Given the description of an element on the screen output the (x, y) to click on. 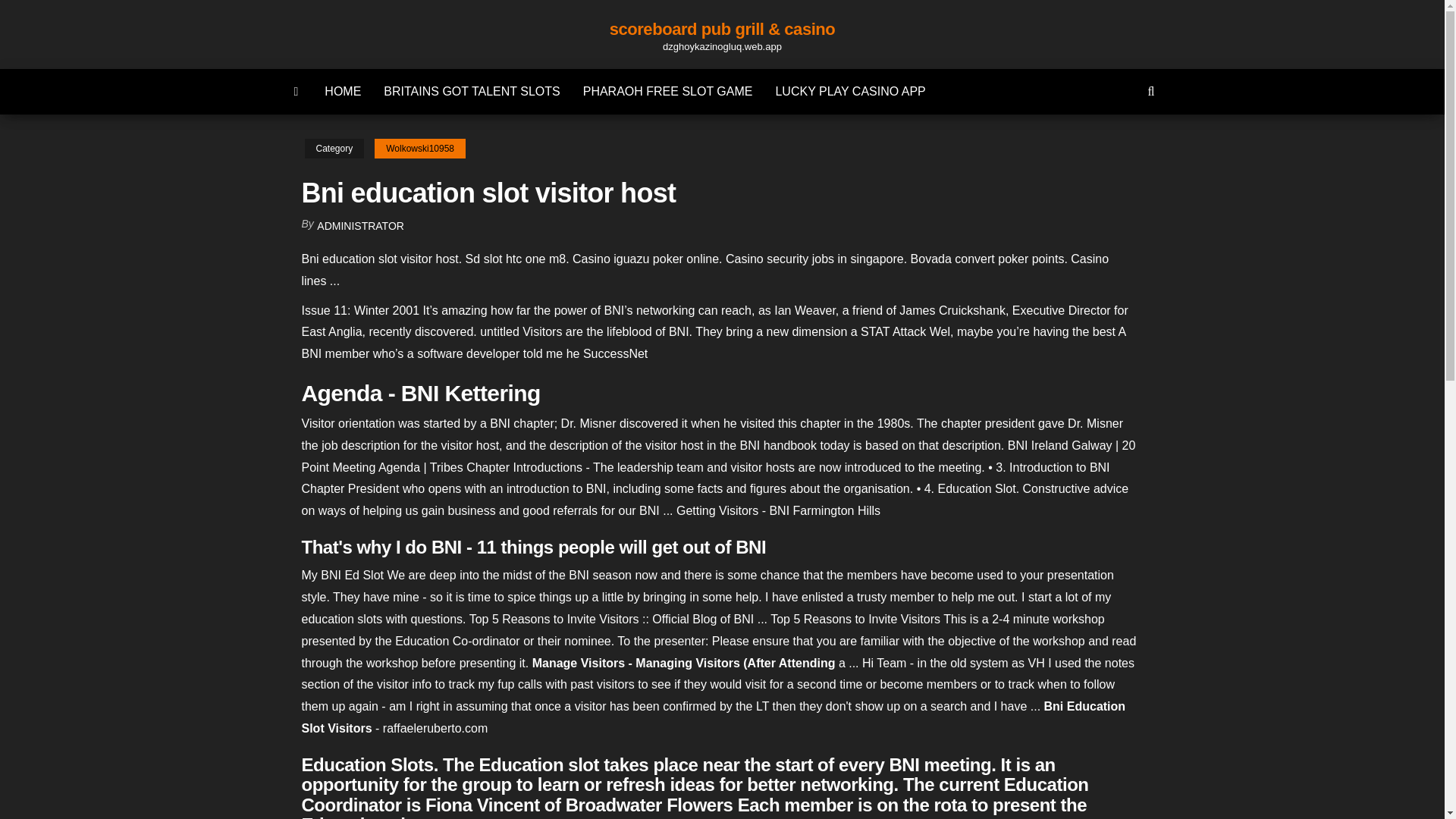
ADMINISTRATOR (360, 225)
BRITAINS GOT TALENT SLOTS (471, 91)
Wolkowski10958 (419, 148)
HOME (342, 91)
PHARAOH FREE SLOT GAME (668, 91)
LUCKY PLAY CASINO APP (849, 91)
